Given the description of an element on the screen output the (x, y) to click on. 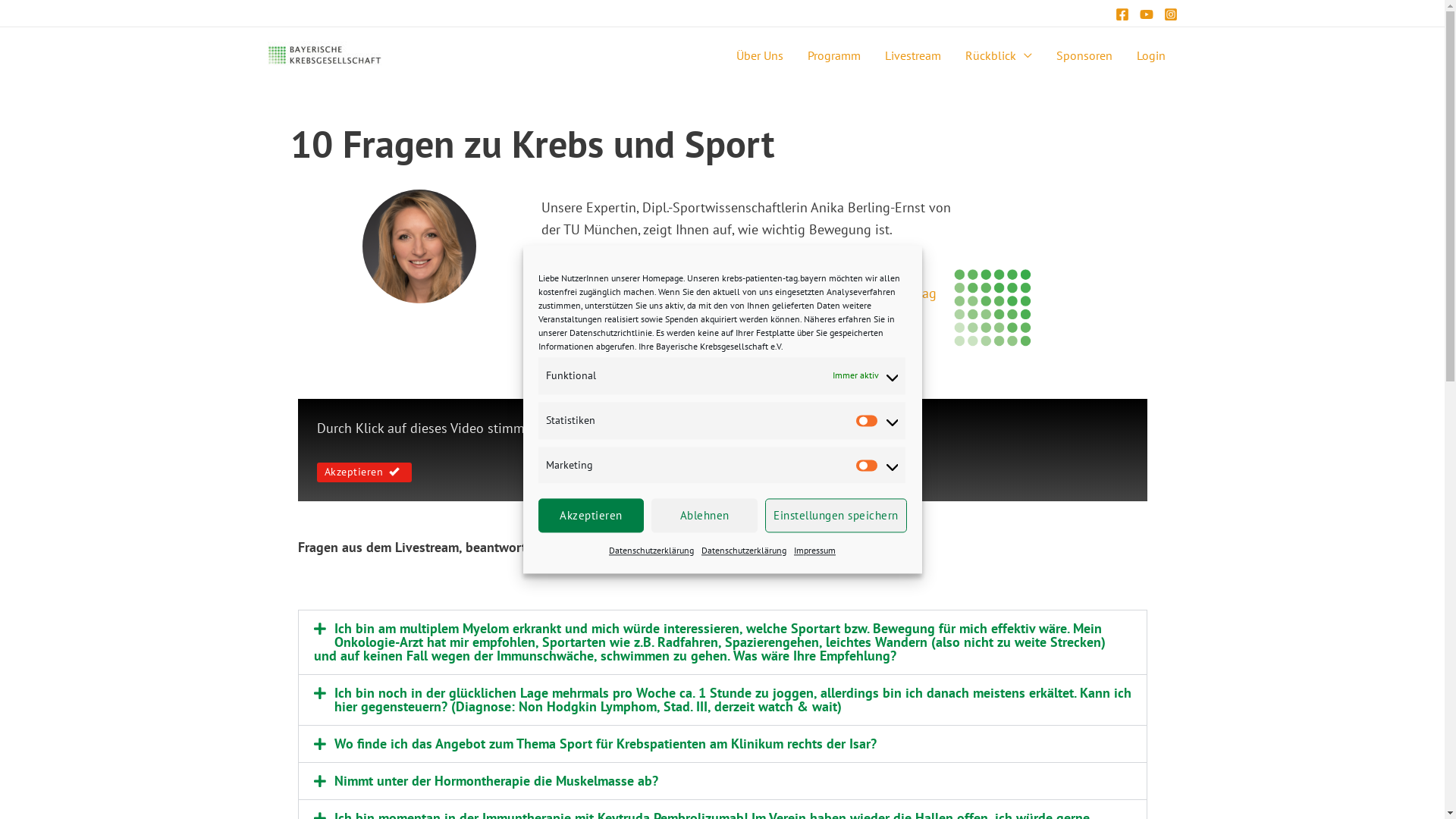
Ablehnen Element type: text (704, 515)
Login Element type: text (1149, 54)
Nimmt unter der Hormontherapie die Muskelmasse ab? Element type: text (495, 780)
Impressum Element type: text (814, 551)
Programm Element type: text (833, 54)
Livestream Element type: text (912, 54)
Akzeptieren Element type: text (364, 472)
Sponsoren Element type: text (1083, 54)
Akzeptieren Element type: text (591, 515)
Datenschutzbestimmungen Element type: text (696, 427)
Einstellungen speichern Element type: text (835, 515)
